Given the description of an element on the screen output the (x, y) to click on. 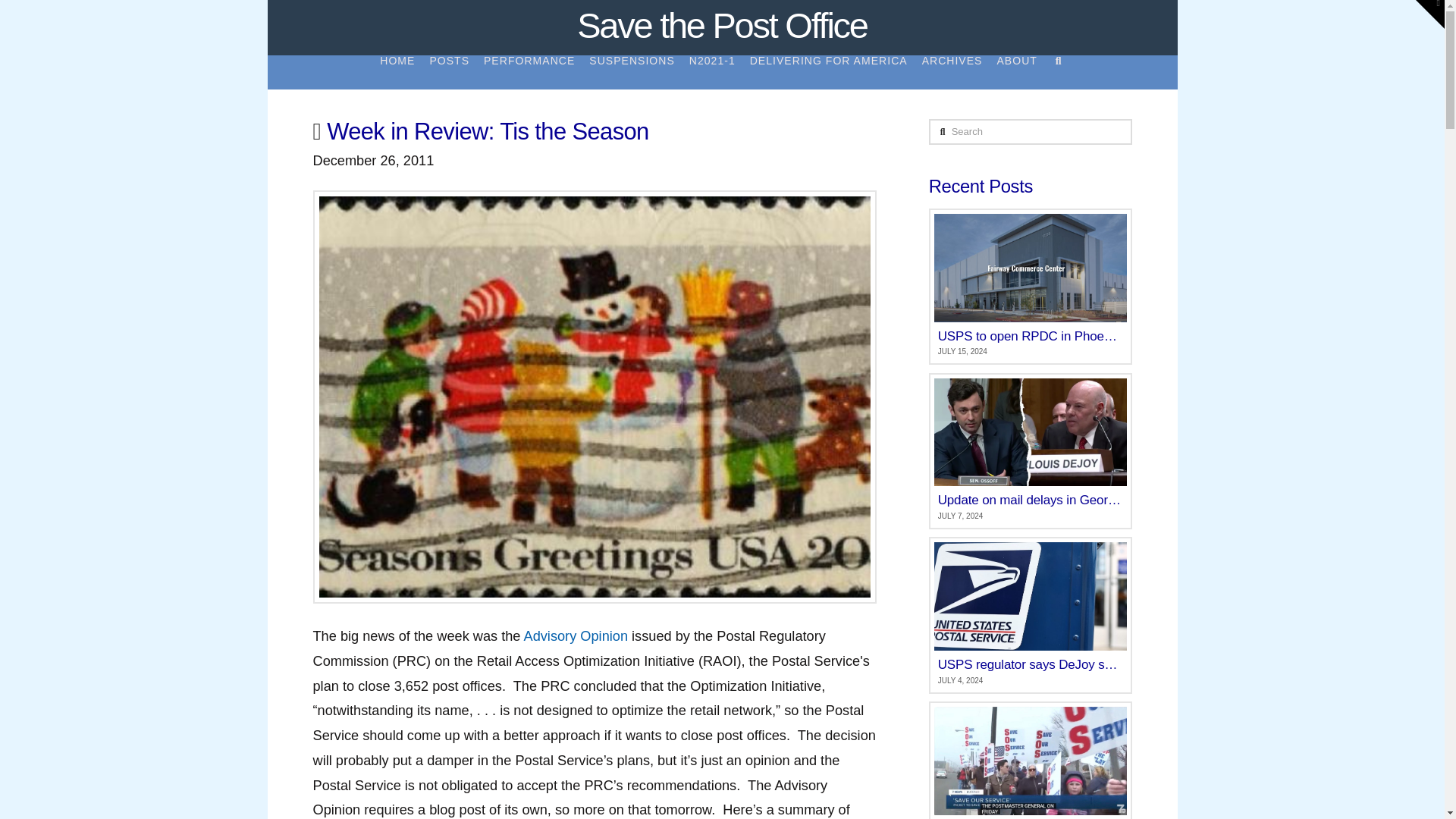
N2021-1 (711, 72)
POSTS (449, 72)
Advisory Opinion (575, 635)
SUSPENSIONS (630, 72)
HOME (397, 72)
DELIVERING FOR AMERICA (828, 72)
ABOUT (1015, 72)
Save the Post Office (721, 25)
ARCHIVES (952, 72)
PERFORMANCE (528, 72)
Permalink to: "CPWU Newsletter for Summer 2024" (1030, 760)
